Given the description of an element on the screen output the (x, y) to click on. 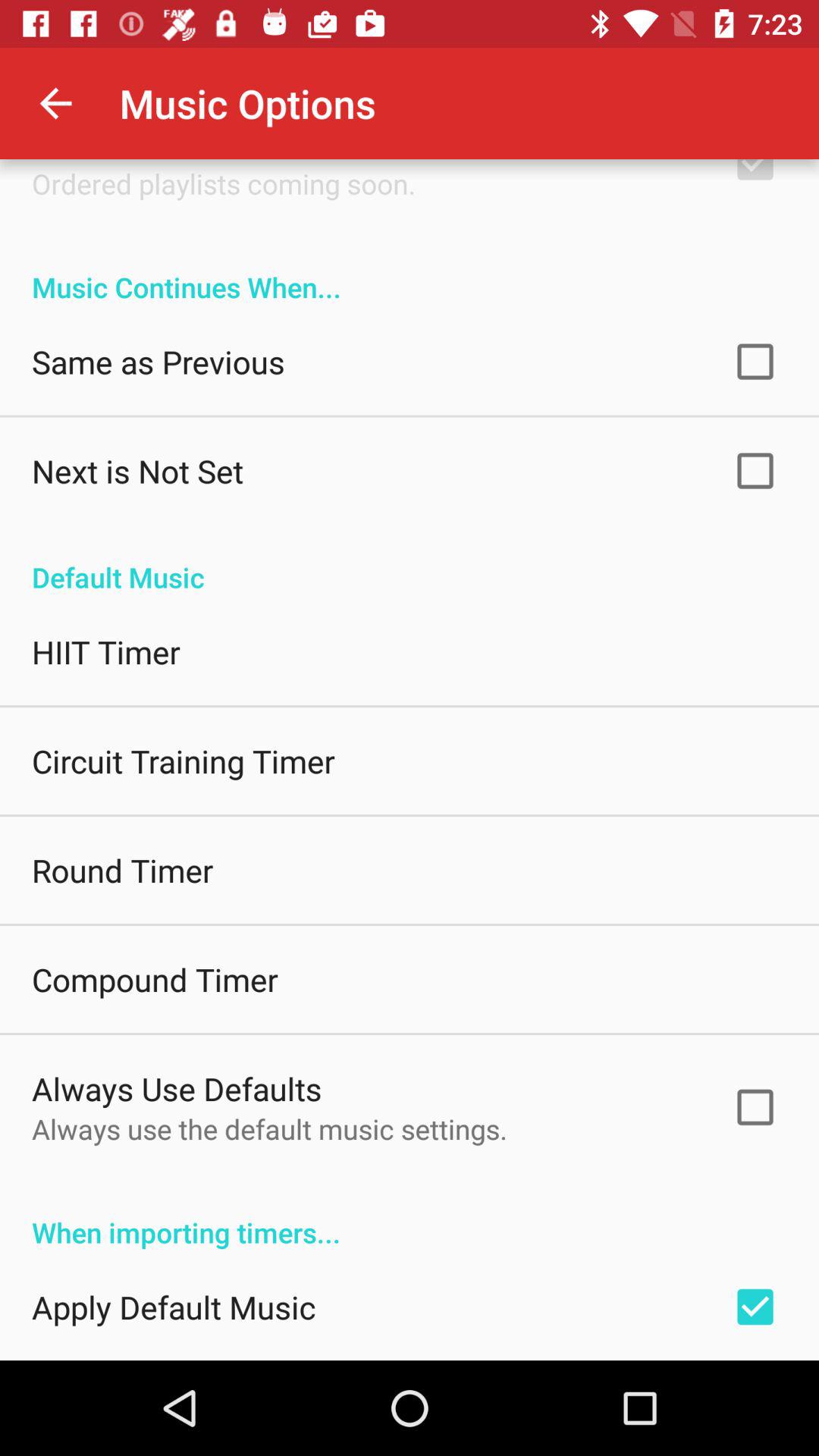
click the music continues when... icon (409, 270)
